Given the description of an element on the screen output the (x, y) to click on. 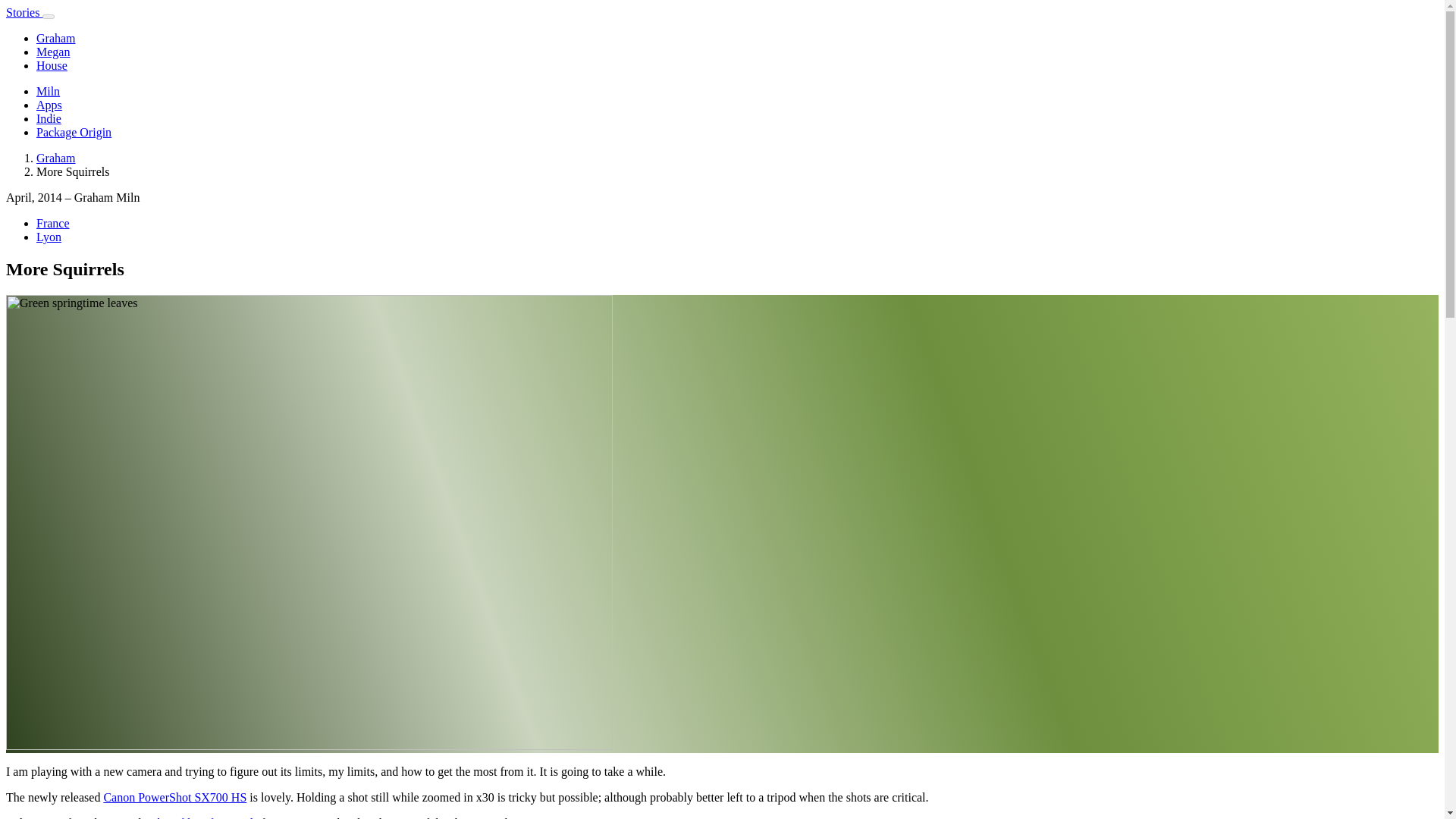
Canon PowerShot SX700 HS (174, 797)
Graham (55, 38)
Miln (47, 91)
Megan (52, 51)
Graham (55, 157)
France (52, 223)
Graham (55, 157)
Lyon (48, 236)
Indie (48, 118)
Apps (49, 104)
